Given the description of an element on the screen output the (x, y) to click on. 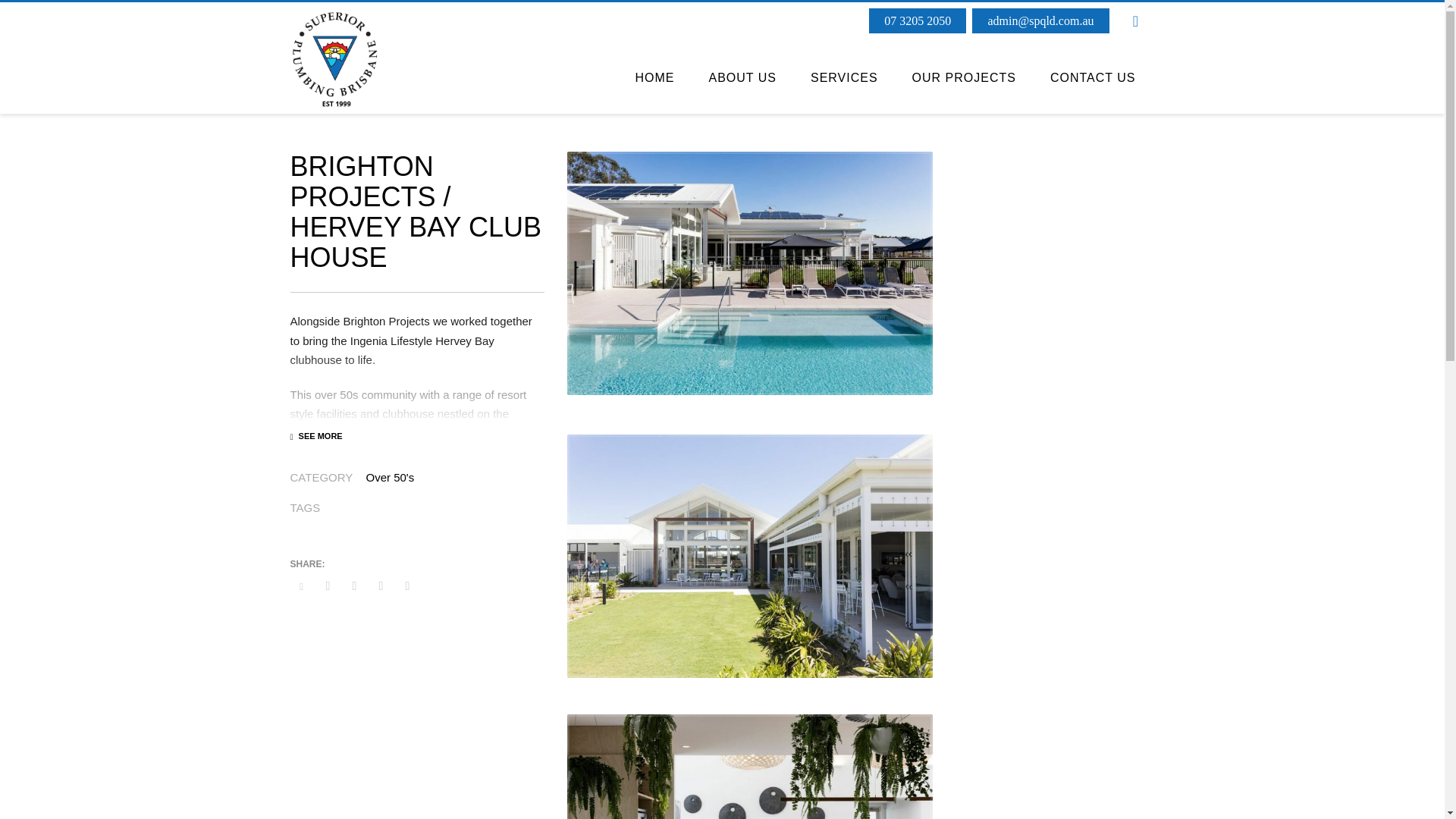
ABOUT US (742, 77)
SHARE ON PINTEREST (381, 585)
SHARE ON GPLUS (353, 585)
07 3205 2050 (917, 19)
SERVICES (843, 77)
OUR PROJECTS (963, 77)
SHARE ON TWITTER (301, 585)
fb (1135, 20)
CONTACT US (1093, 77)
SHARE ON MAIL (407, 585)
Over 50's (389, 476)
HOME (654, 77)
SHARE ON FACEBOOK (328, 585)
